Given the description of an element on the screen output the (x, y) to click on. 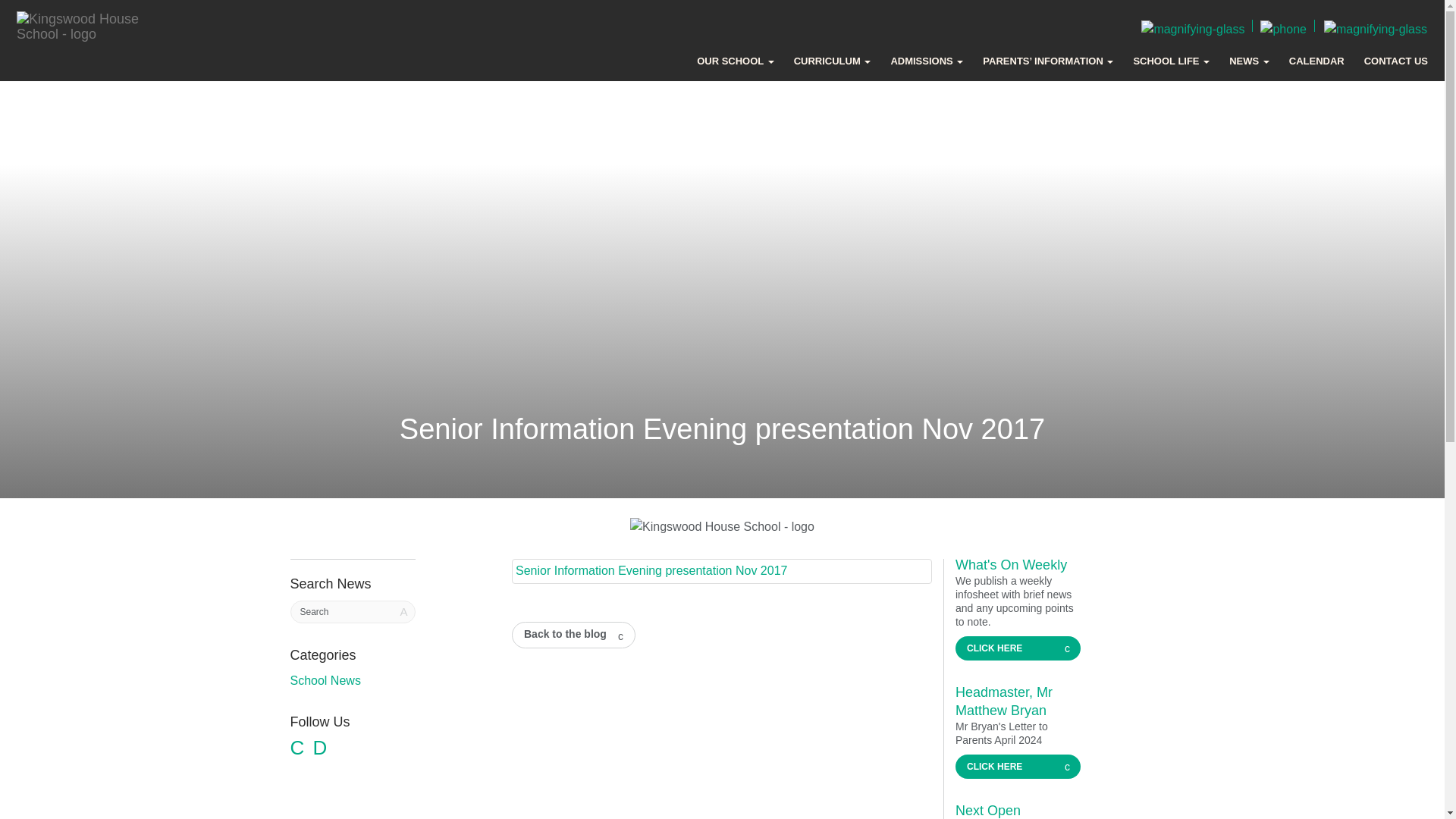
SCHOOL LIFE (1170, 61)
OUR SCHOOL (735, 61)
Search (351, 611)
Search (351, 611)
ADMISSIONS (925, 61)
CURRICULUM (831, 61)
